Given the description of an element on the screen output the (x, y) to click on. 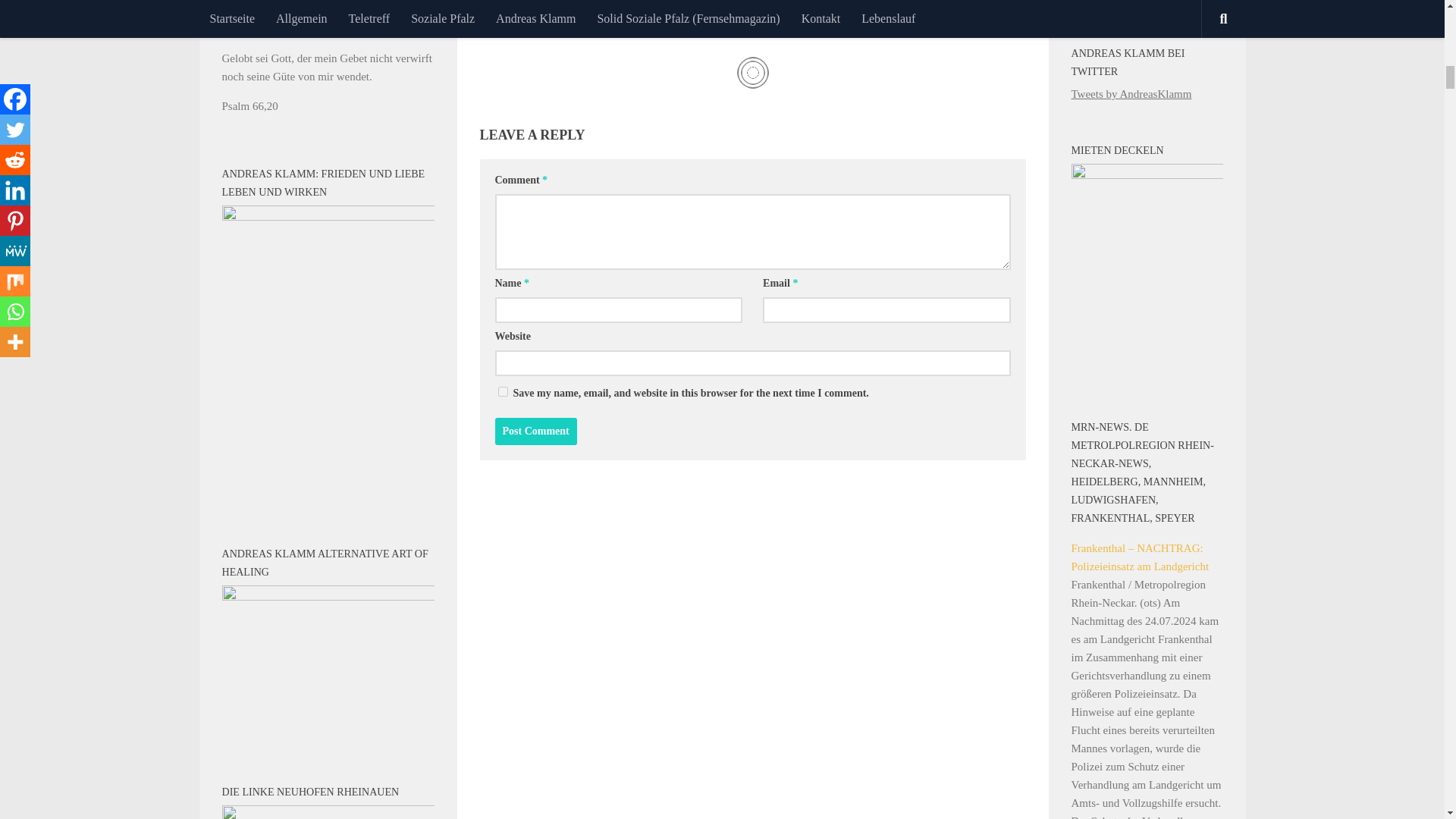
Post Comment (535, 431)
yes (501, 391)
